Given the description of an element on the screen output the (x, y) to click on. 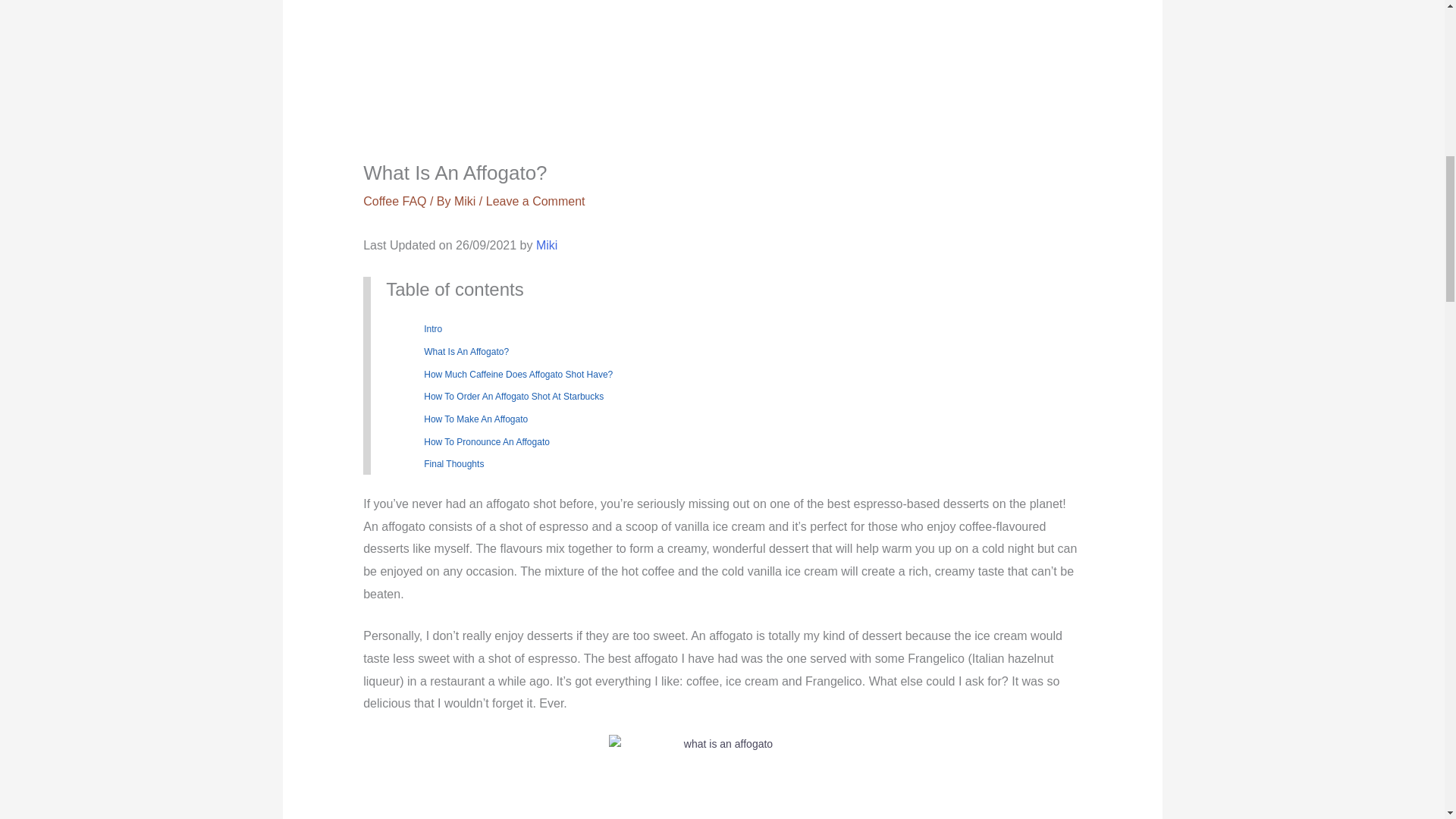
How To Make An Affogato (475, 419)
Intro (432, 328)
View all posts by Miki (465, 201)
How To Pronounce An Affogato (486, 441)
Coffee FAQ (394, 201)
What Is An Affogato? (465, 351)
Leave a Comment (535, 201)
Miki (465, 201)
How To Order An Affogato Shot At Starbucks (513, 396)
Final Thoughts (453, 463)
